Given the description of an element on the screen output the (x, y) to click on. 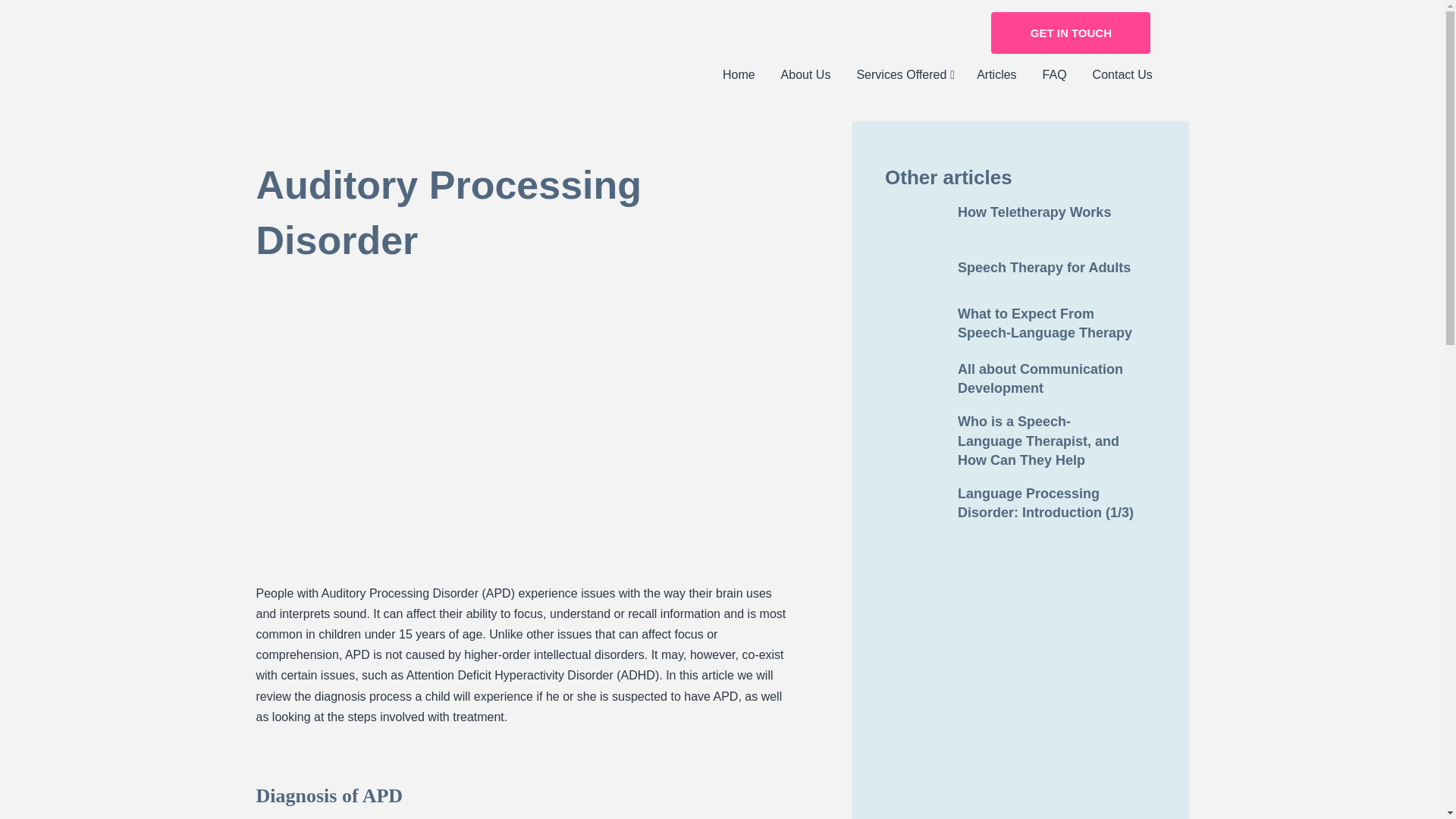
Speech Therapy for Adults (1020, 267)
Home (739, 75)
Services Offered (903, 75)
Contact Us (1123, 75)
How Teletherapy Works (1020, 212)
GET IN TOUCH (1070, 33)
About Us (806, 75)
What to Expect From Speech-Language Therapy (1020, 323)
Who is a Speech-Language Therapist, and How Can They Help (1020, 441)
All about Communication Development (1020, 378)
FAQ (1054, 75)
Articles (996, 75)
